Given the description of an element on the screen output the (x, y) to click on. 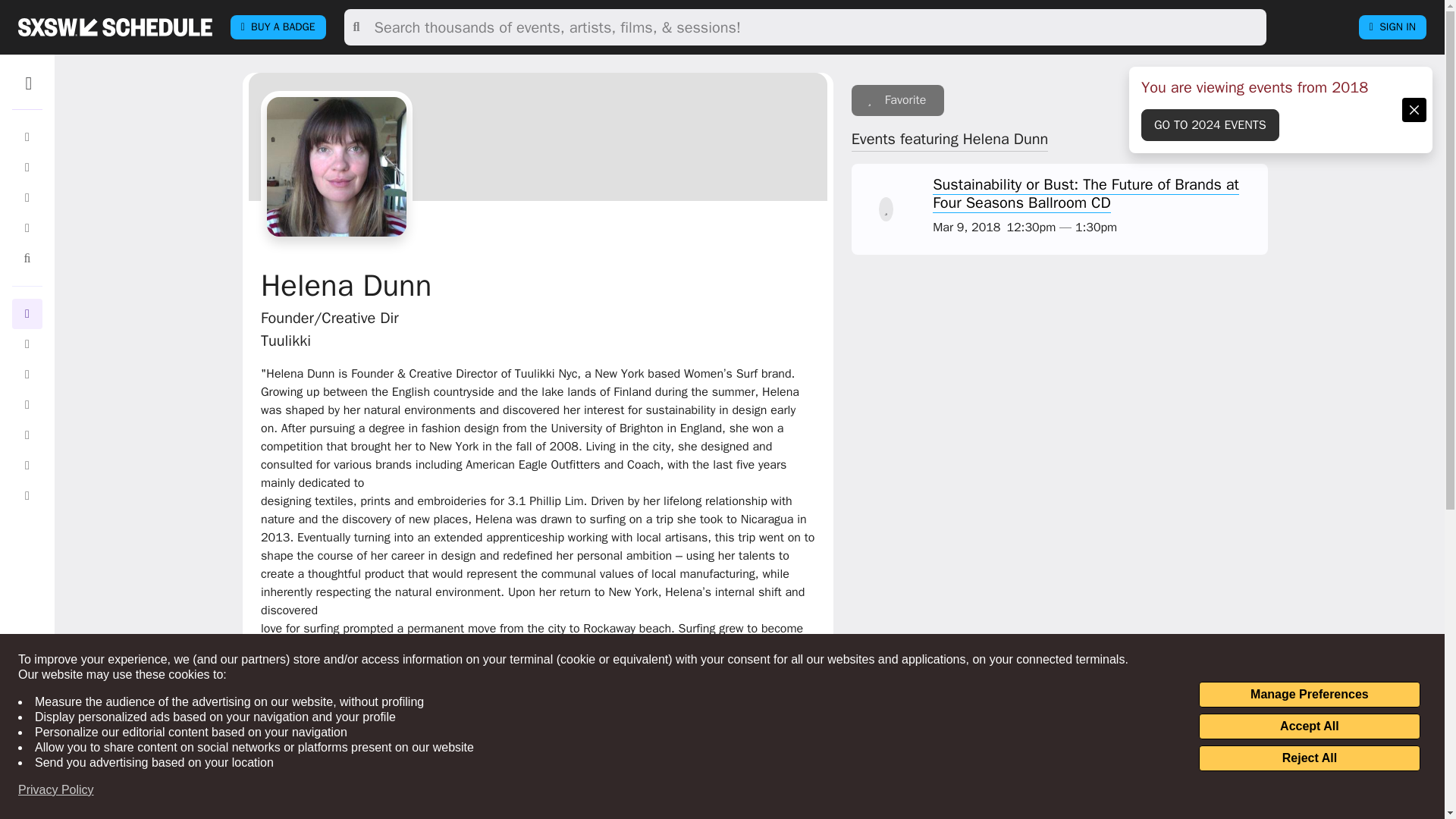
Reject All (1309, 758)
BUY A BADGE (278, 27)
GO TO 2024 EVENTS (1210, 124)
Sign In to add to your favorites. (886, 209)
Sign In to add to your favorites. (897, 100)
SIGN IN (1392, 27)
sxsw SCHEDULE (114, 27)
Manage Preferences (1309, 694)
Privacy Policy (55, 789)
Accept All (1309, 726)
